Given the description of an element on the screen output the (x, y) to click on. 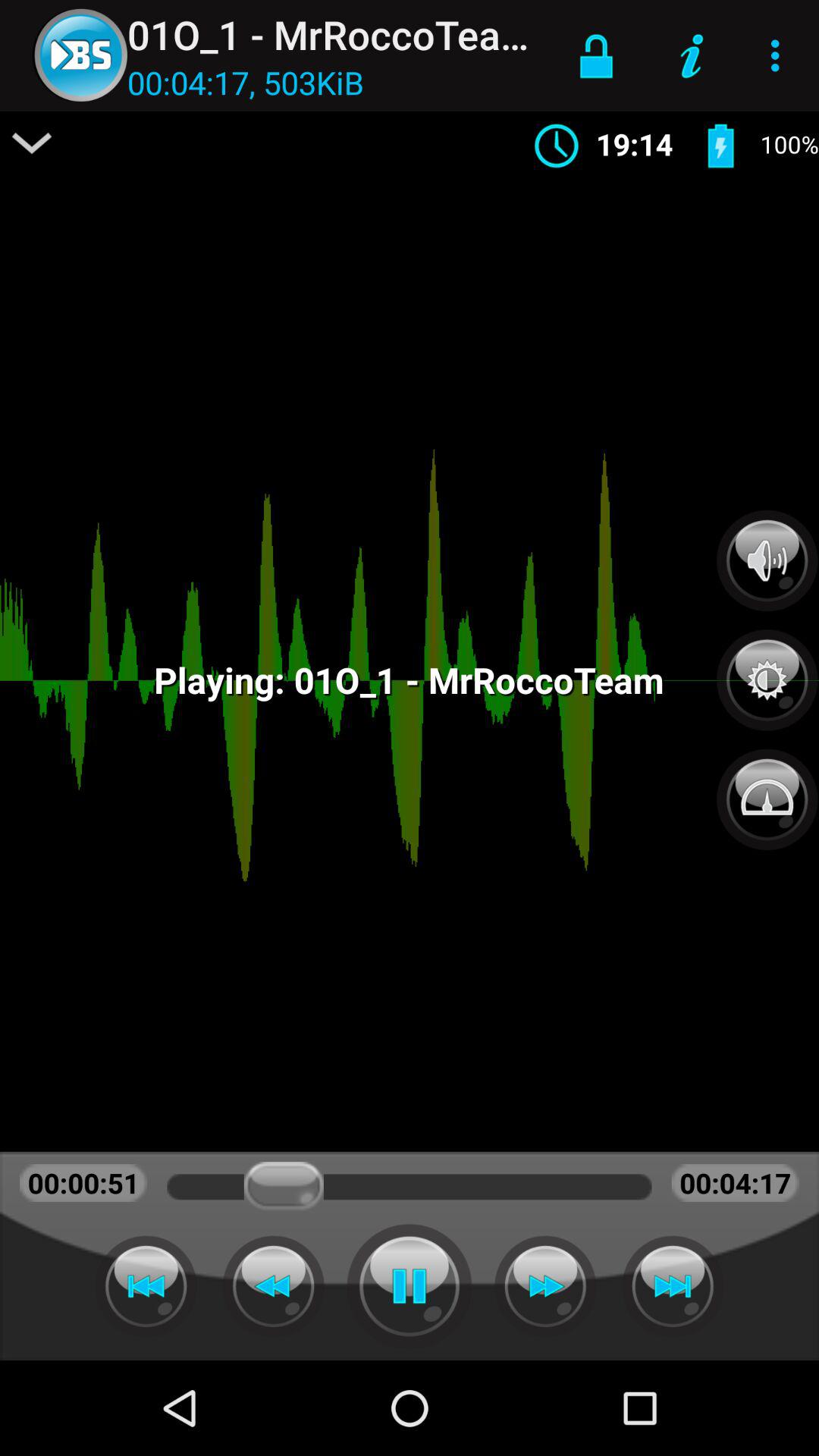
turn off icon next to 01o_1 - mrroccoteam icon (595, 55)
